Given the description of an element on the screen output the (x, y) to click on. 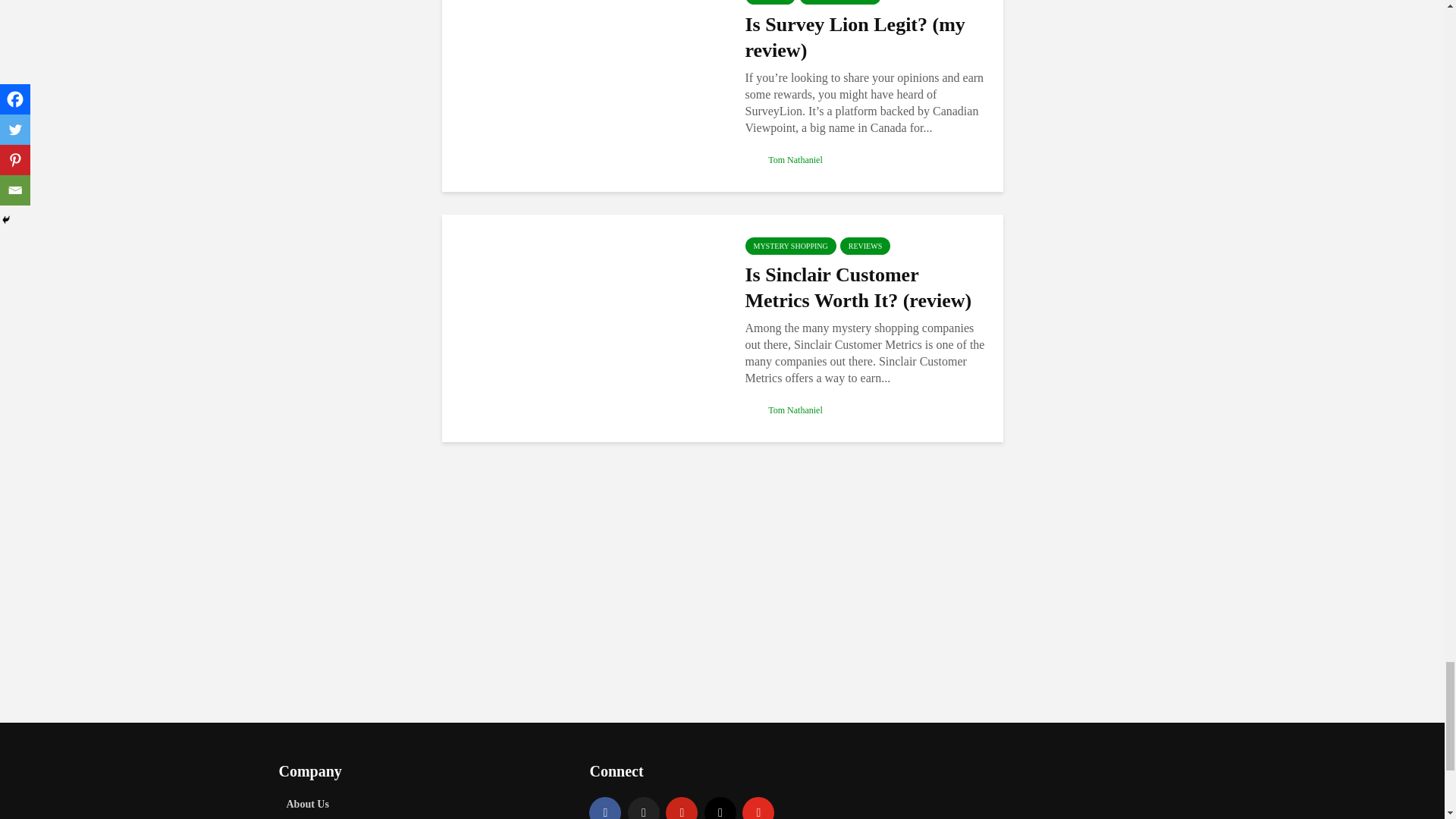
YouTube (758, 807)
Facebook (605, 807)
Pinterest (681, 807)
Instagram (720, 807)
